Given the description of an element on the screen output the (x, y) to click on. 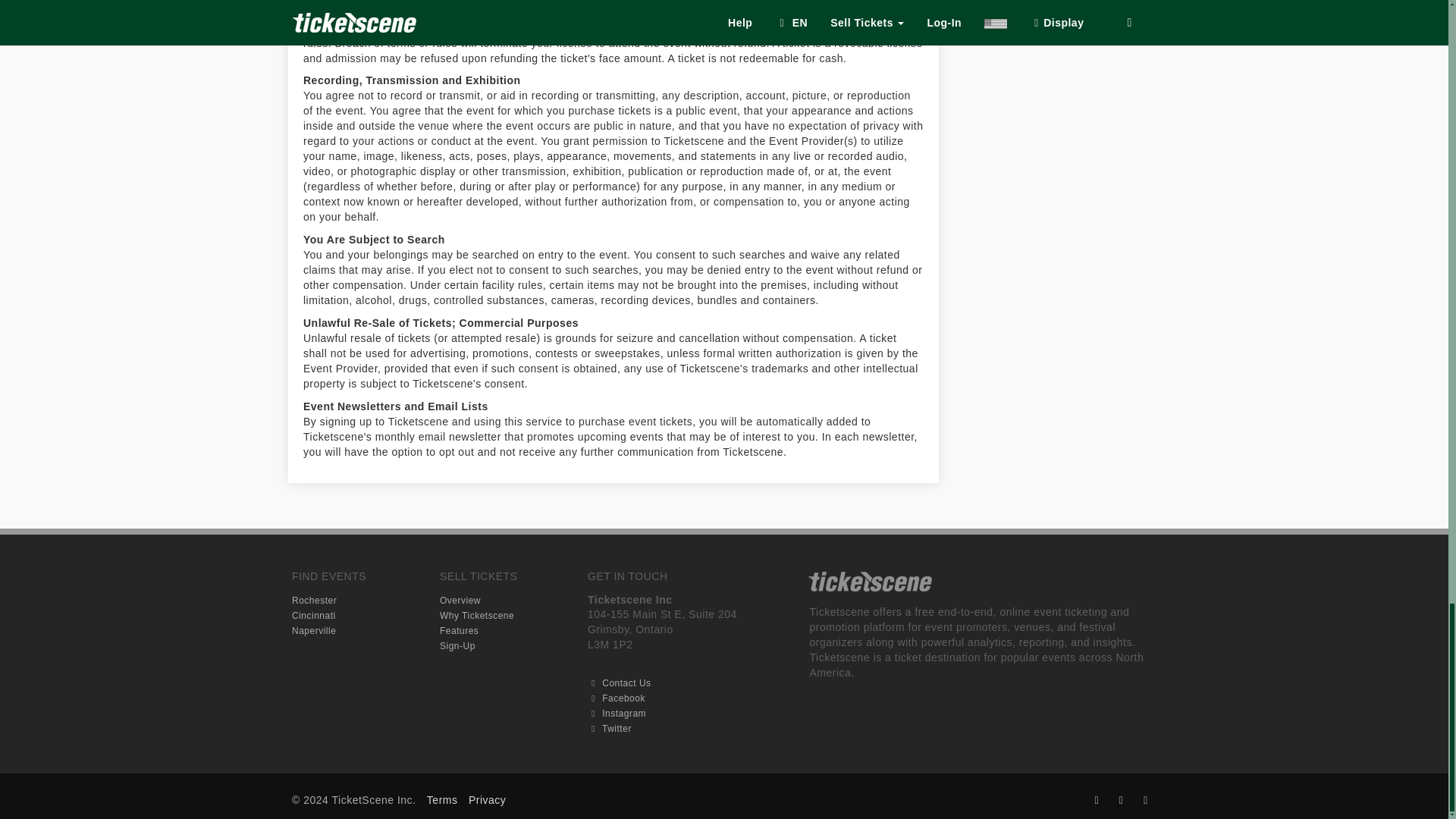
Things to do in Cincinnati (314, 614)
Things to do in Rochester (314, 599)
Rochester (314, 599)
Things to do in Naperville (314, 629)
